Given the description of an element on the screen output the (x, y) to click on. 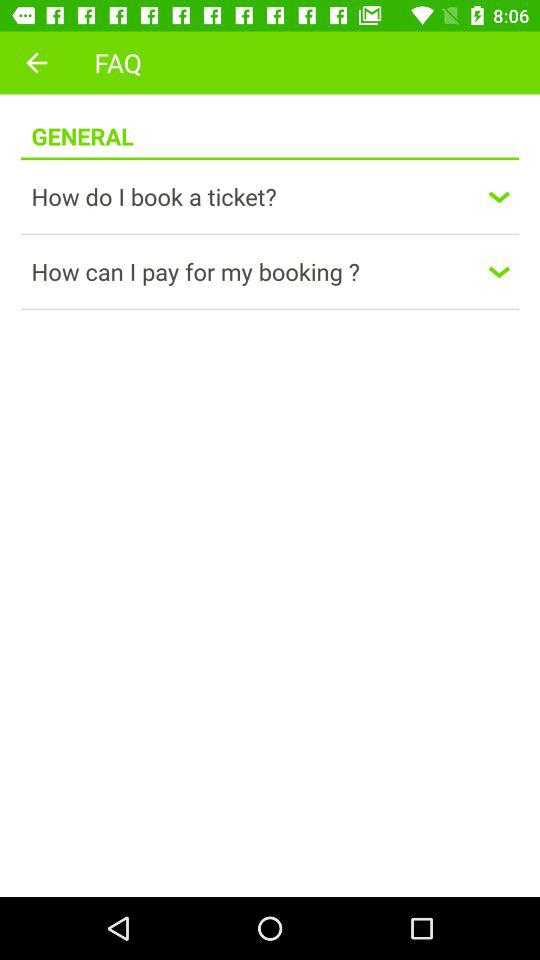
open item to the left of the faq item (36, 62)
